Given the description of an element on the screen output the (x, y) to click on. 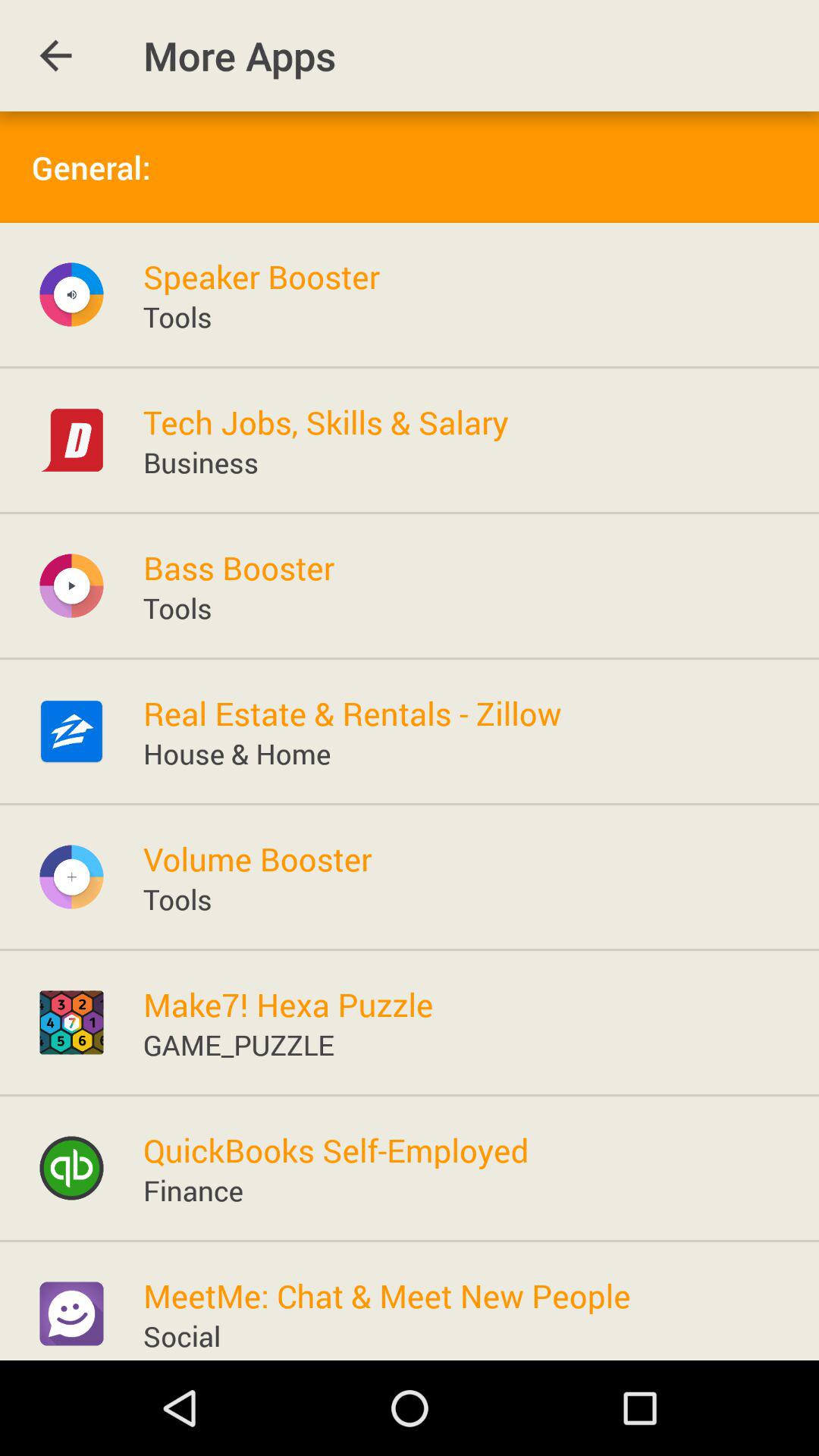
open item below general: item (261, 276)
